Given the description of an element on the screen output the (x, y) to click on. 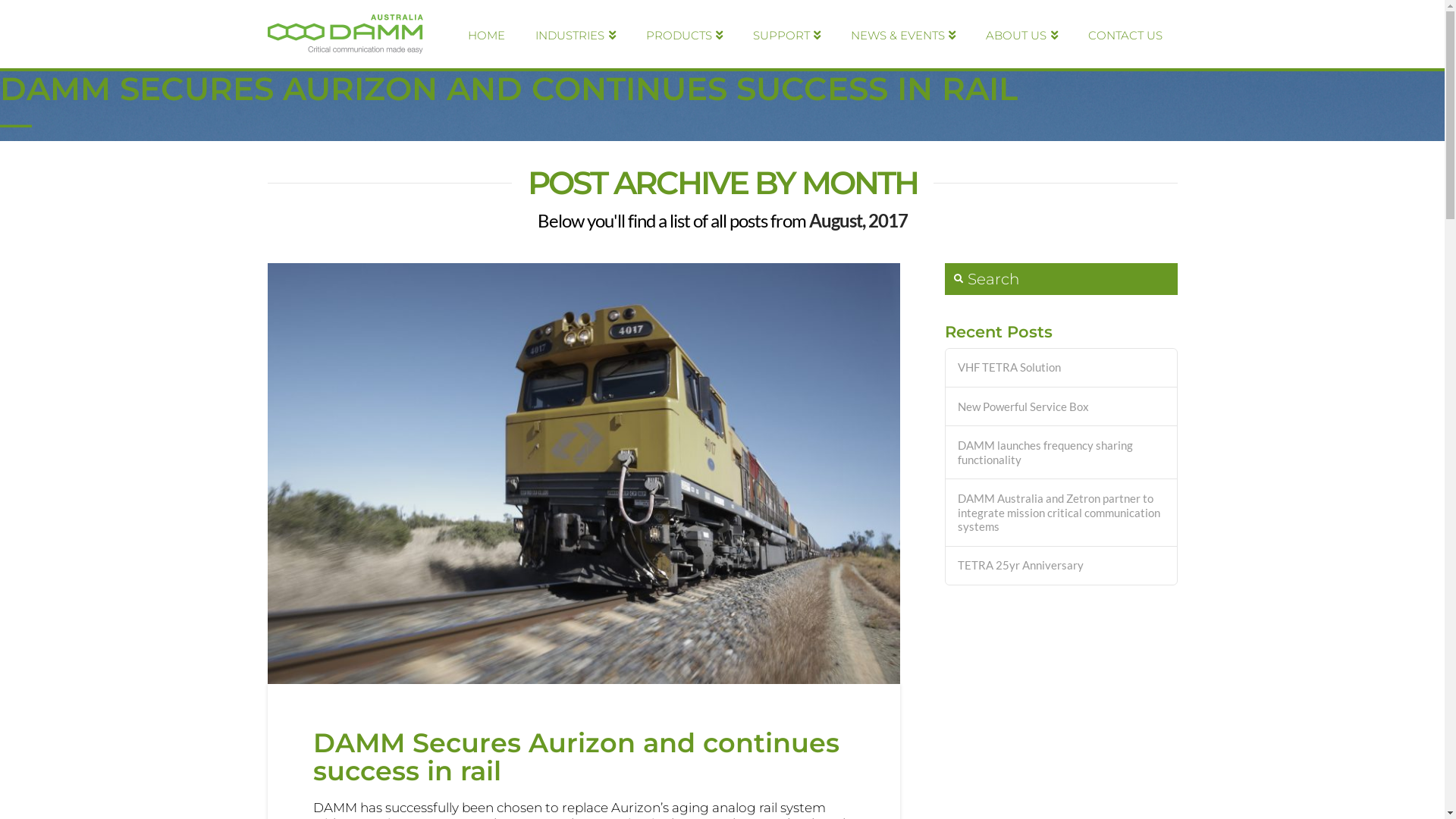
INDUSTRIES Element type: text (575, 34)
PRODUCTS Element type: text (683, 34)
DAMM Secures Aurizon and continues success in rail Element type: text (575, 756)
NEWS & EVENTS Element type: text (902, 34)
VHF TETRA Solution Element type: text (1060, 367)
New Powerful Service Box Element type: text (1060, 406)
Leading Distributor of TETRA Cellular Systems Element type: hover (344, 33)
CONTACT US Element type: text (1124, 34)
DAMM launches frequency sharing functionality Element type: text (1060, 452)
TETRA 25yr Anniversary Element type: text (1060, 565)
HOME Element type: text (486, 34)
ABOUT US Element type: text (1021, 34)
SUPPORT Element type: text (786, 34)
